Given the description of an element on the screen output the (x, y) to click on. 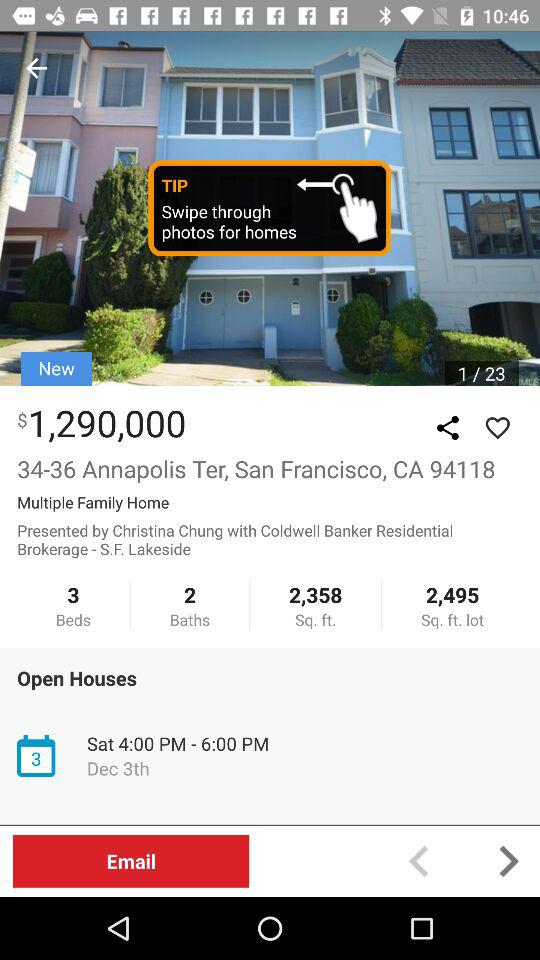
favorite (497, 428)
